Given the description of an element on the screen output the (x, y) to click on. 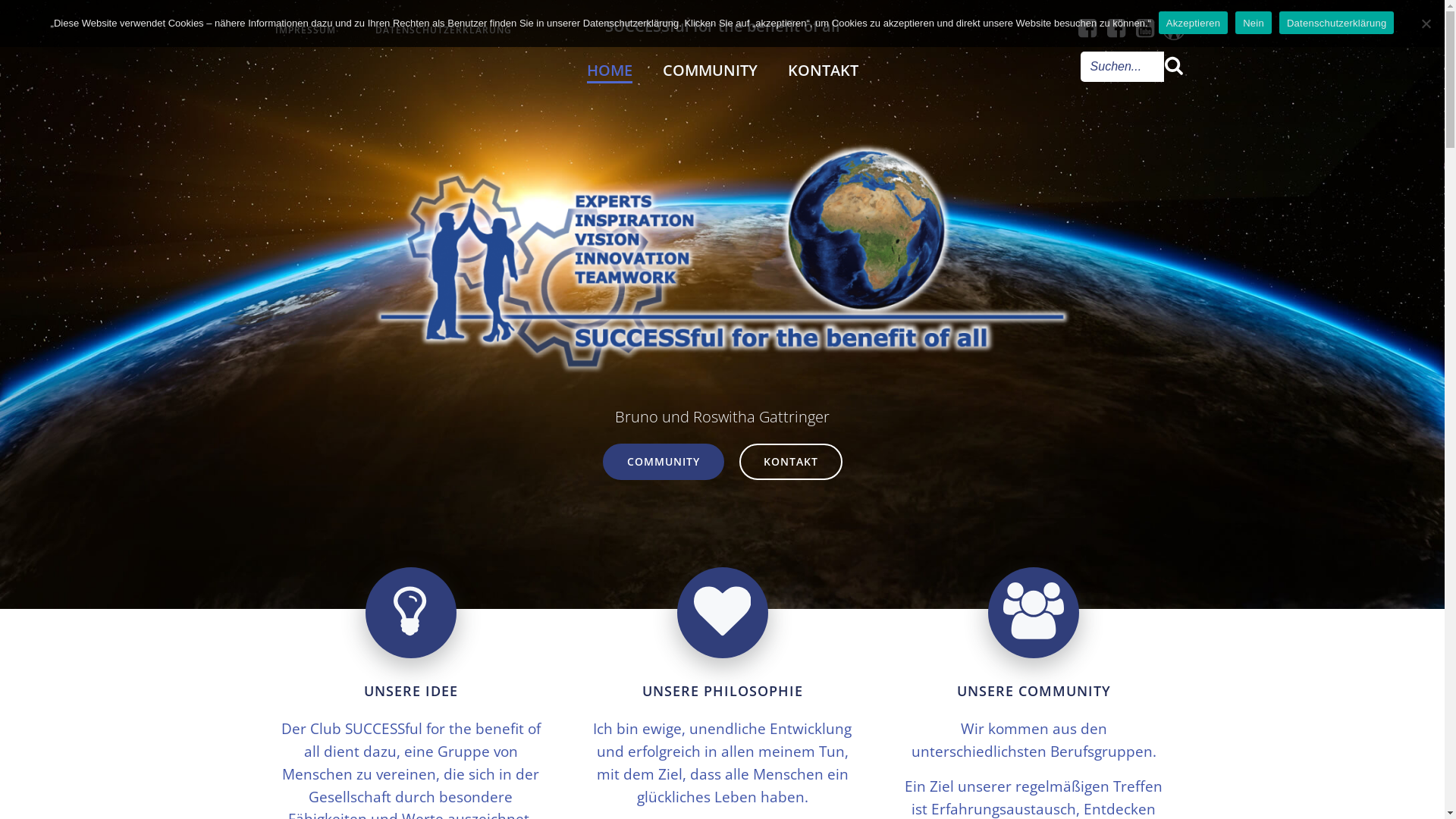
Nein Element type: text (1253, 22)
COMMUNITY Element type: text (709, 70)
Nein Element type: hover (1425, 23)
KONTAKT Element type: text (822, 70)
IMPRESSUM Element type: text (305, 30)
Akzeptieren Element type: text (1192, 22)
HOME Element type: text (609, 70)
KONTAKT Element type: text (789, 461)
COMMUNITY Element type: text (662, 461)
SUCCESSful for the benefit of all Element type: text (722, 26)
